Given the description of an element on the screen output the (x, y) to click on. 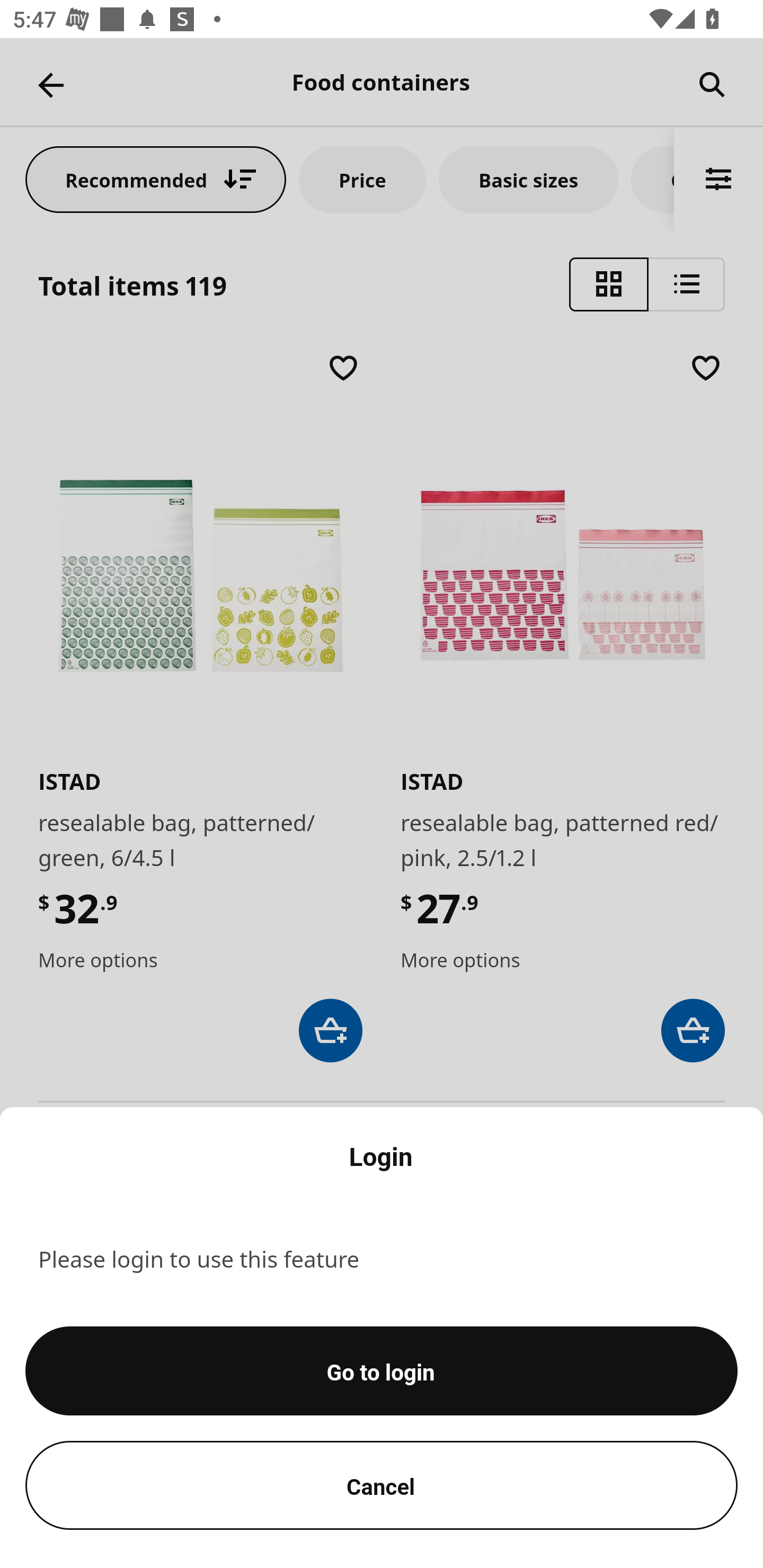
Go to login (381, 1370)
Cancel (381, 1485)
